Given the description of an element on the screen output the (x, y) to click on. 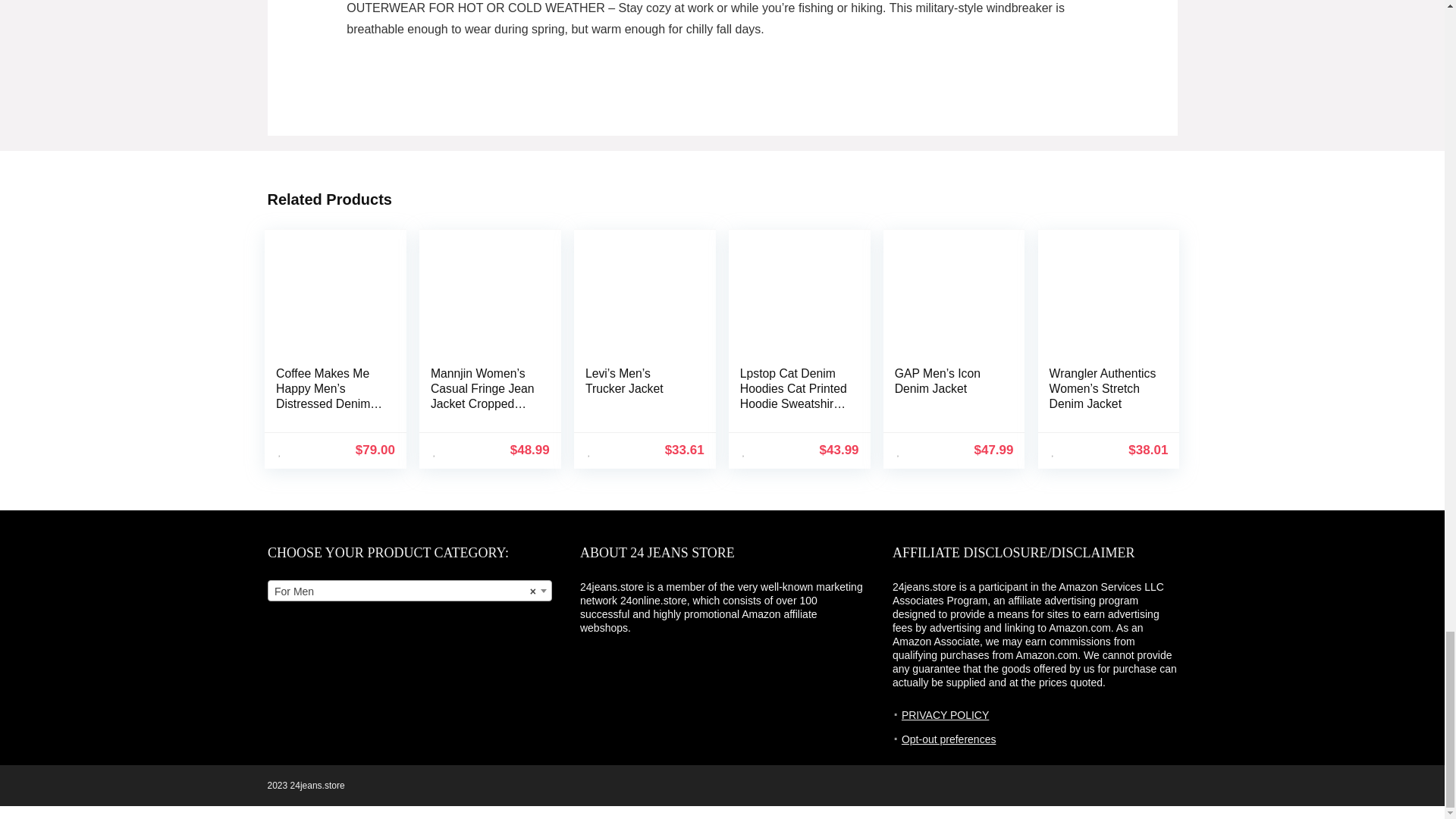
For Men (409, 590)
